Given the description of an element on the screen output the (x, y) to click on. 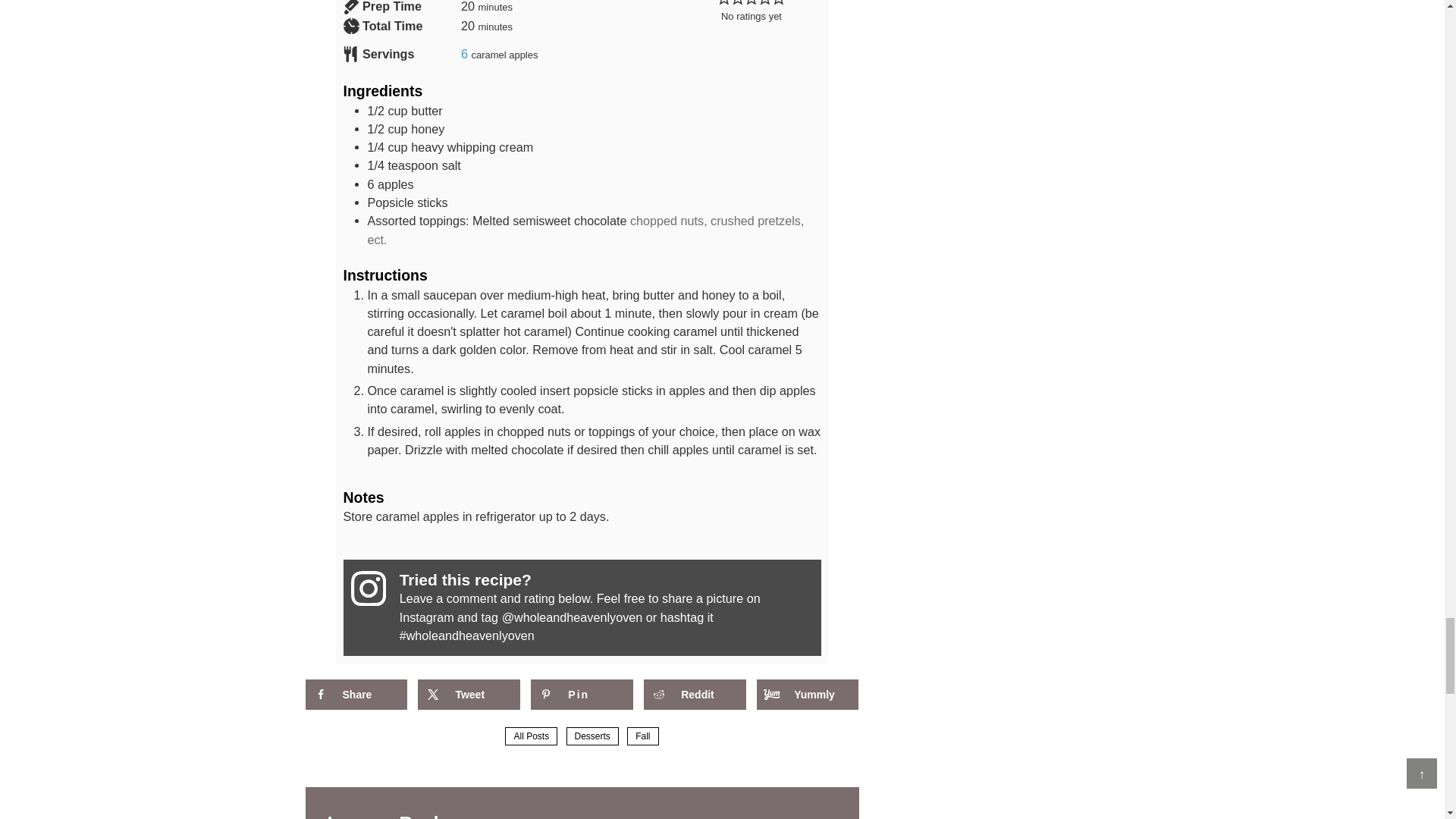
Save to Pinterest (581, 694)
Share on X (468, 694)
Share on Facebook (355, 694)
Share on Reddit (694, 694)
Share on Yummly (808, 694)
